Given the description of an element on the screen output the (x, y) to click on. 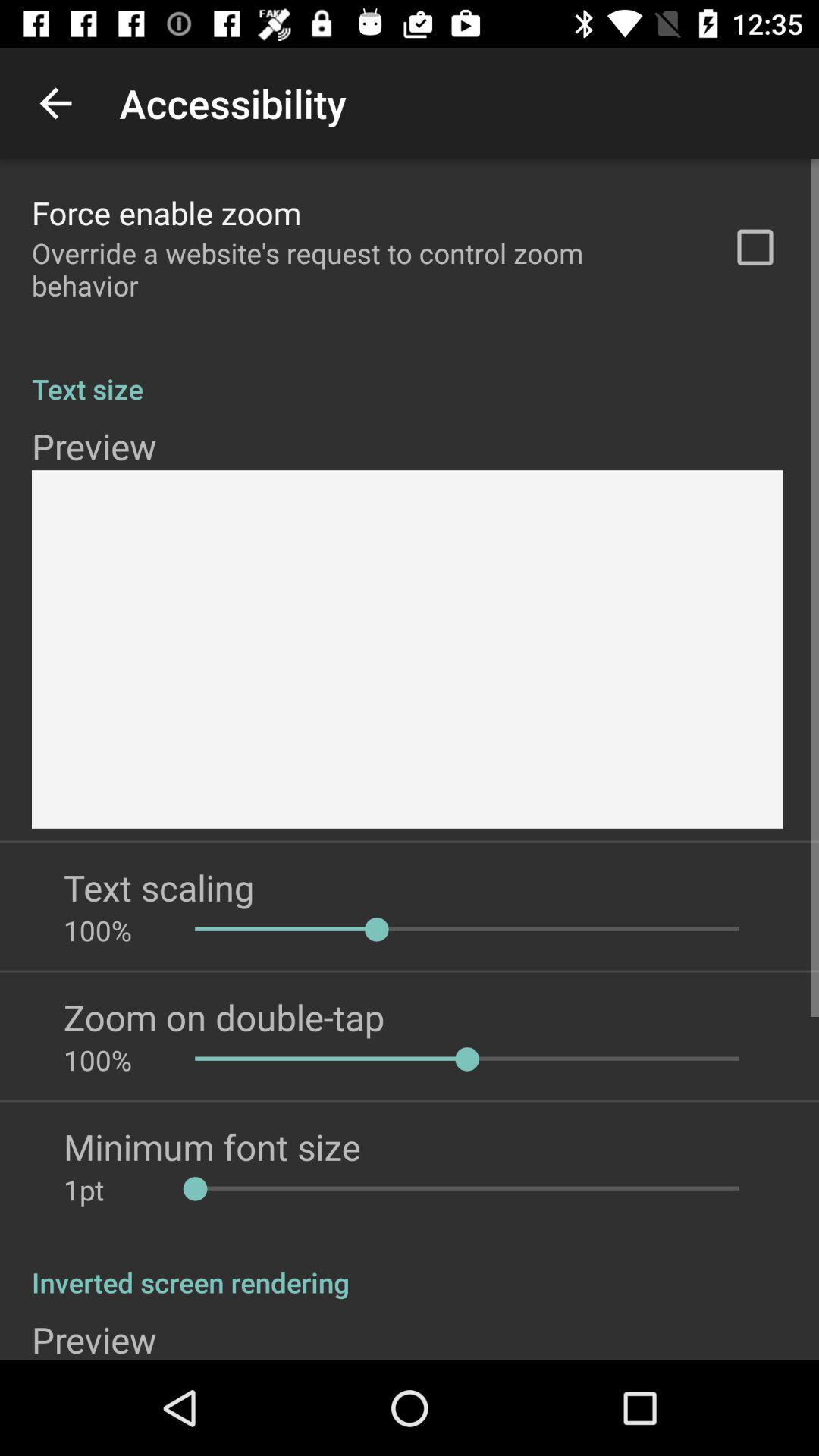
turn on item above the force enable zoom (55, 103)
